Given the description of an element on the screen output the (x, y) to click on. 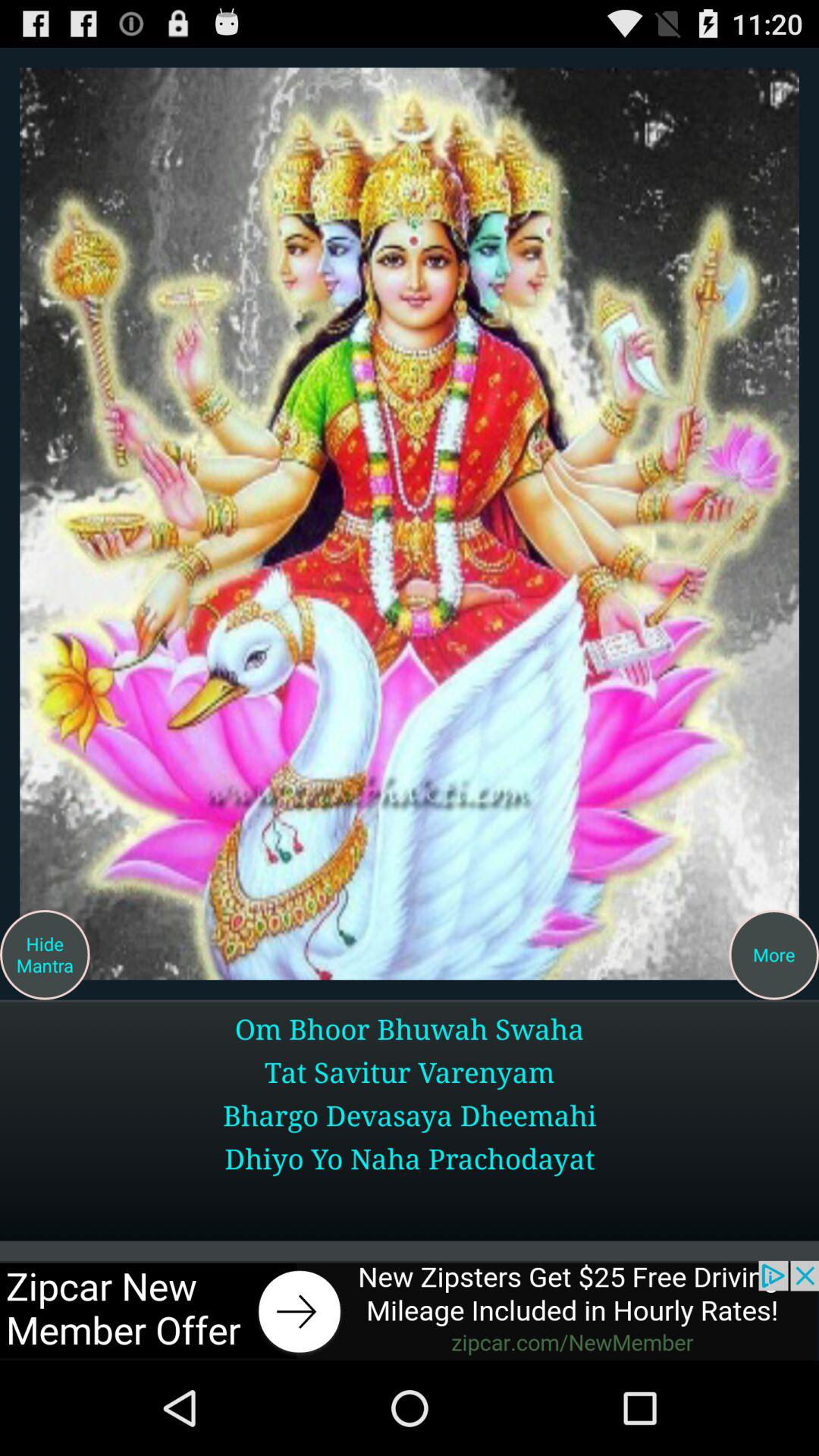
advertisement page (409, 1310)
